Given the description of an element on the screen output the (x, y) to click on. 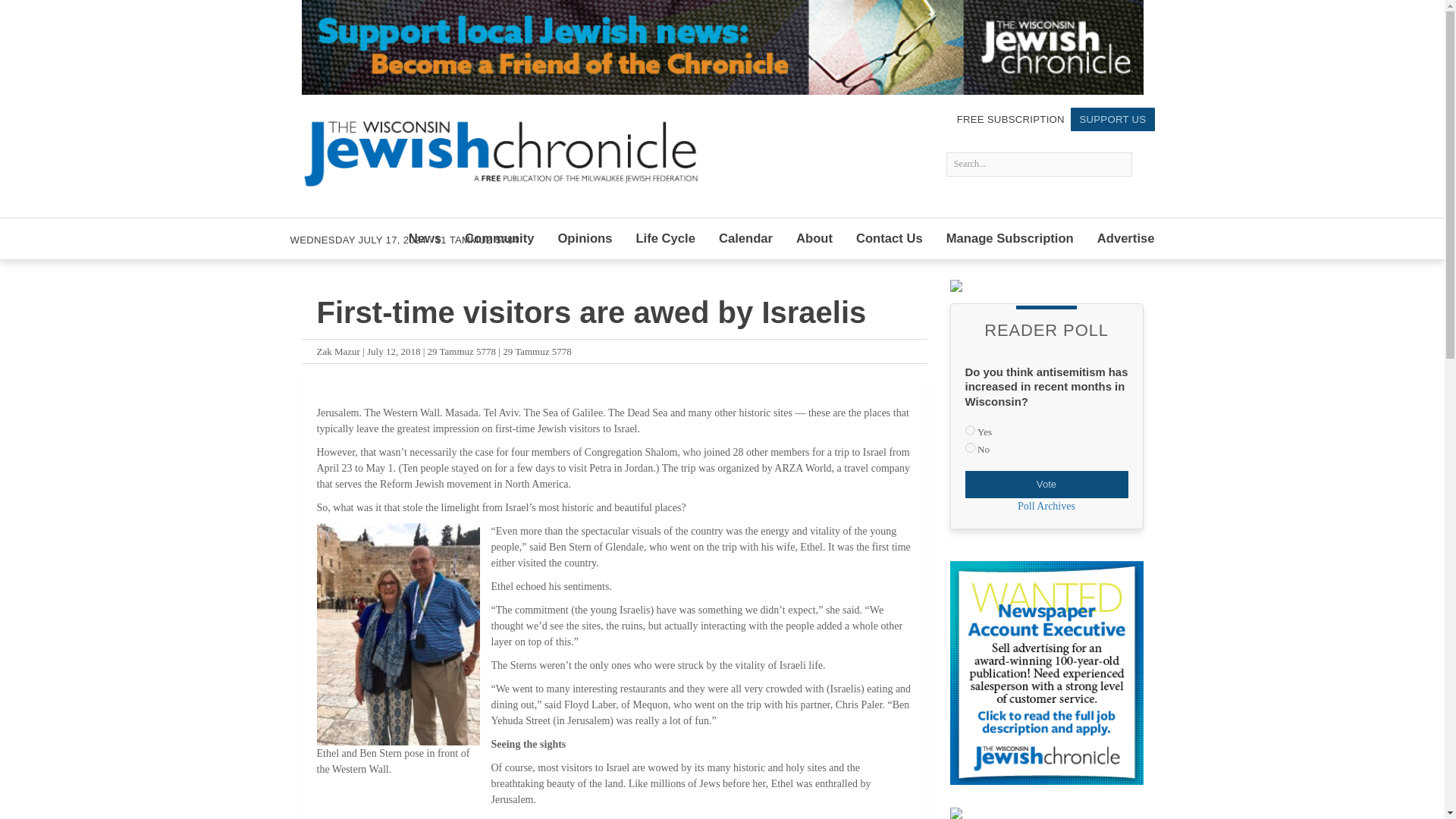
Community (499, 238)
Search... (1039, 164)
330 (968, 429)
Manage Subscription (1010, 238)
Life Cycle (666, 238)
SUPPORT US (1112, 119)
About (814, 238)
Opinions (585, 238)
News (424, 238)
Contact Us (889, 238)
Vote (1044, 483)
Calendar (745, 238)
331 (968, 447)
FREE SUBSCRIPTION (1010, 118)
